Given the description of an element on the screen output the (x, y) to click on. 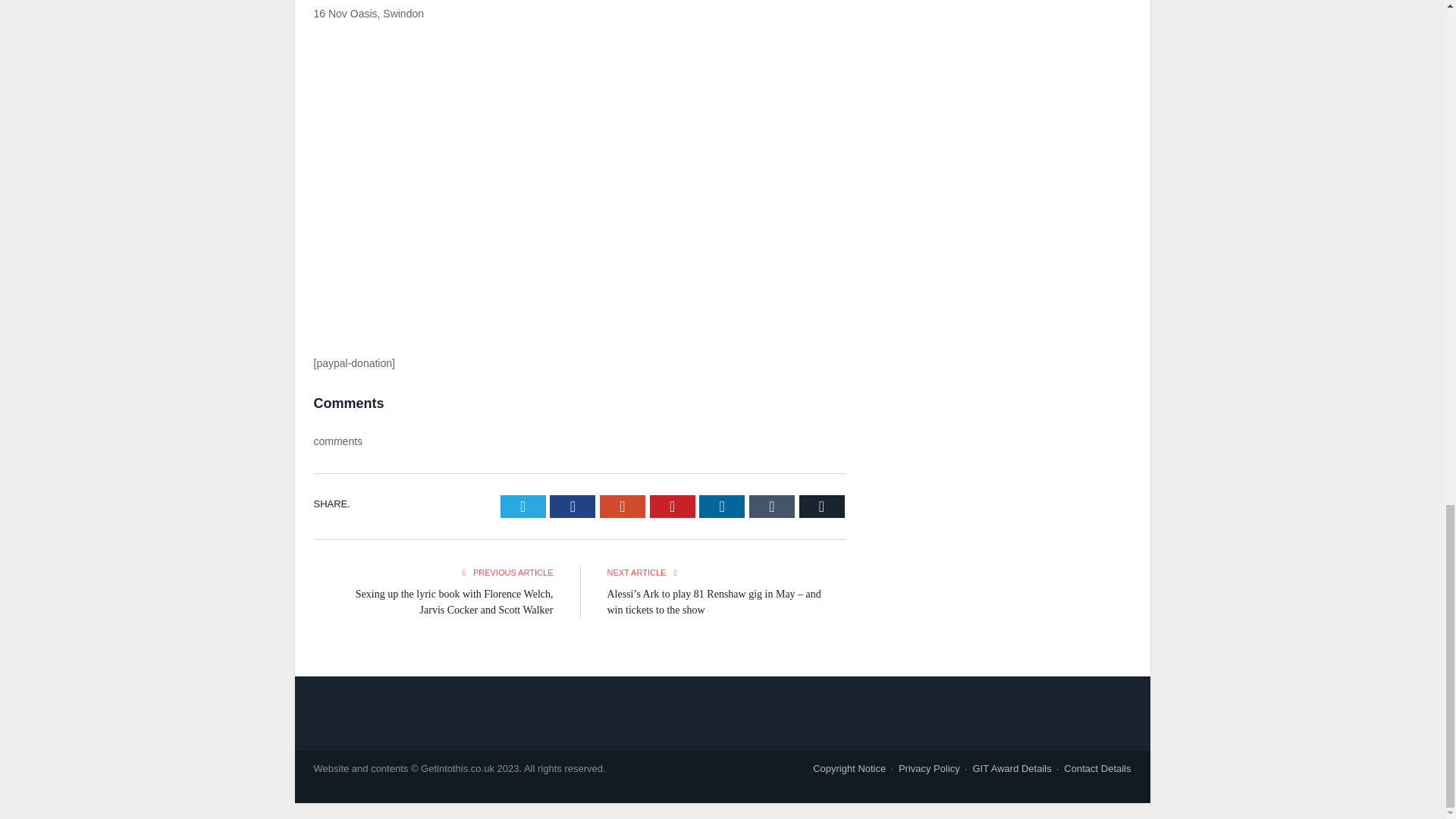
Pinterest (672, 506)
LinkedIn (721, 506)
Tumblr (771, 506)
Twitter (523, 506)
Email (821, 506)
Facebook (572, 506)
